Given the description of an element on the screen output the (x, y) to click on. 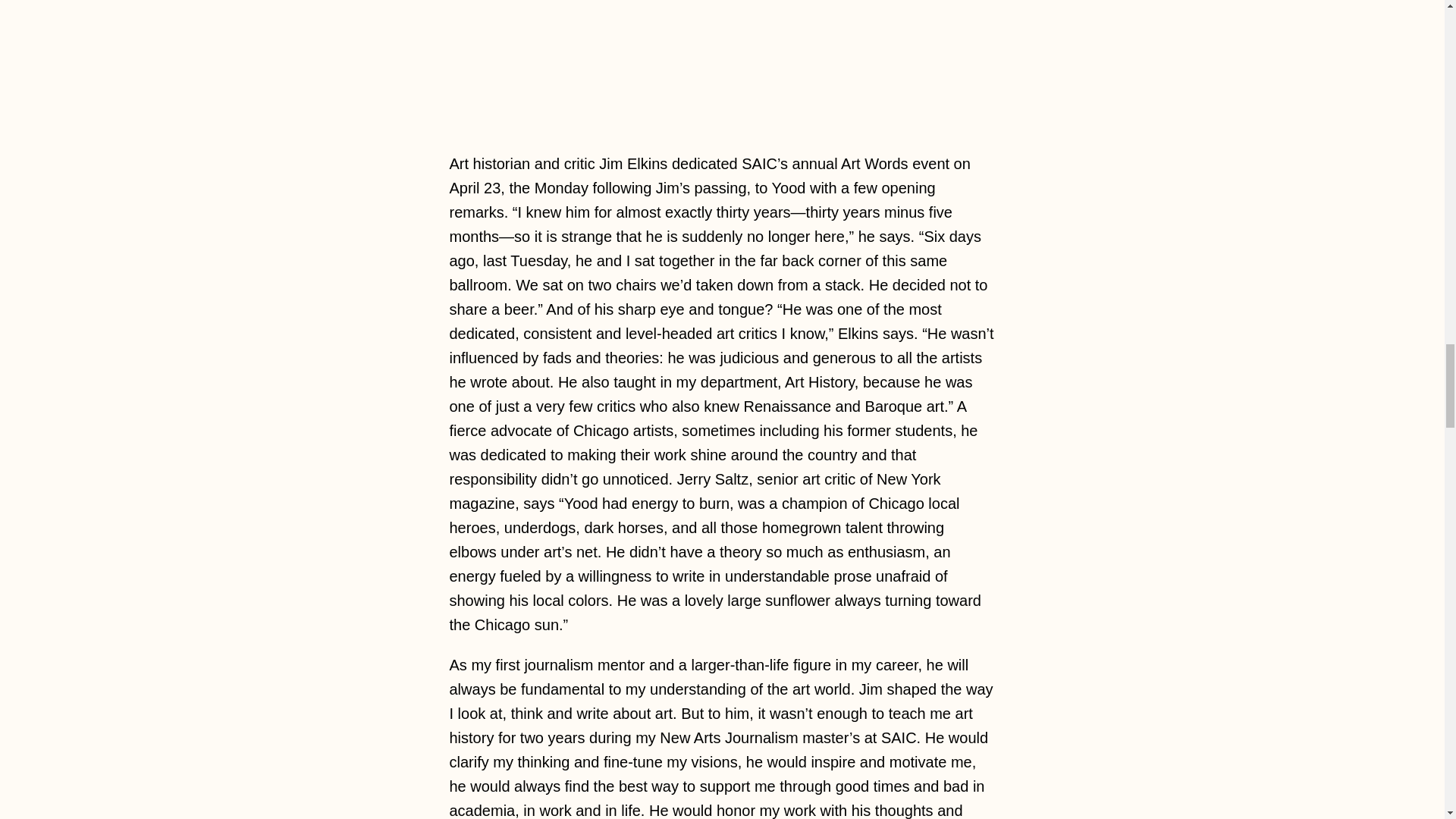
3rd party ad content (722, 64)
